Given the description of an element on the screen output the (x, y) to click on. 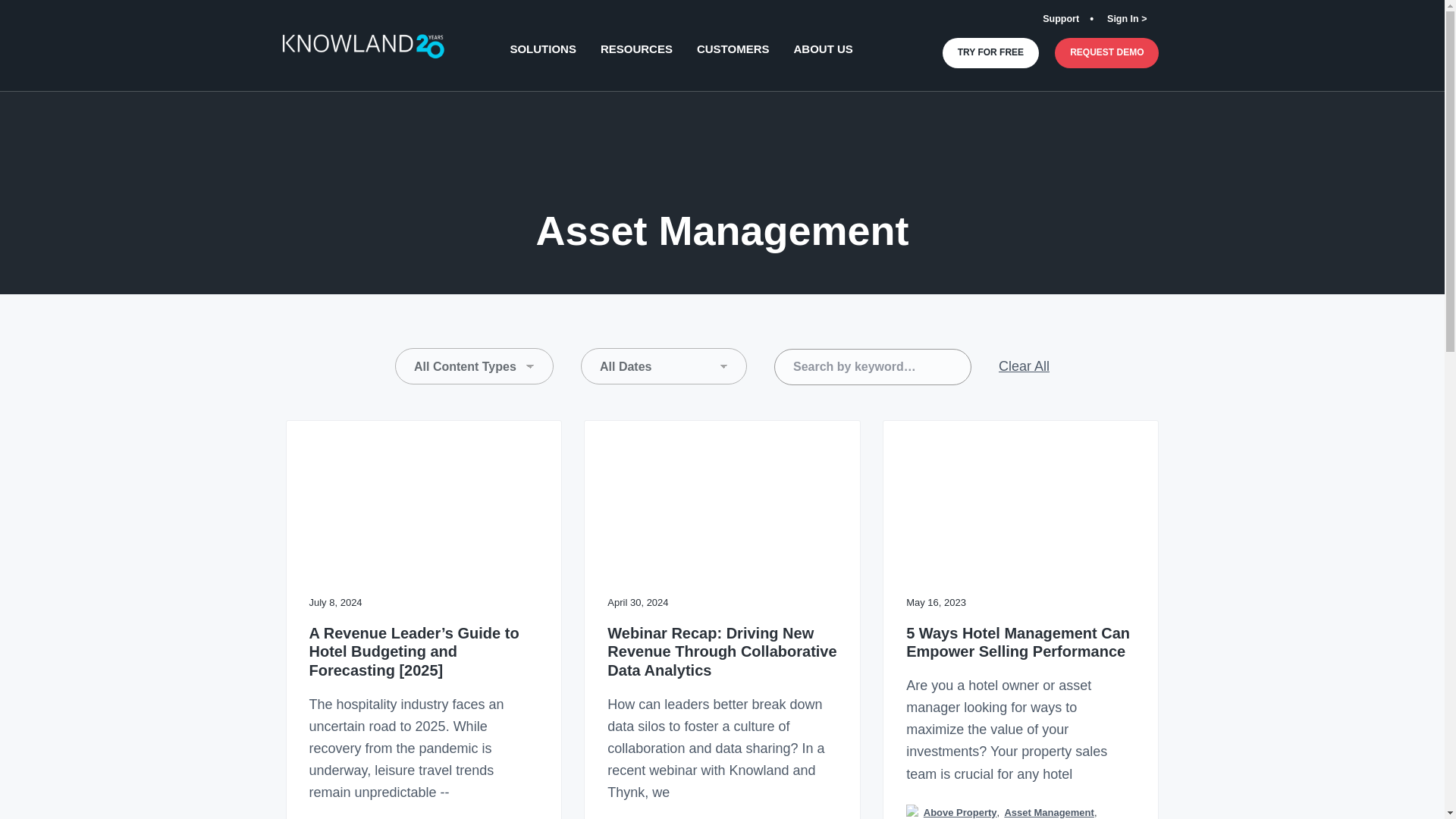
SOLUTIONS (542, 49)
CUSTOMERS (733, 49)
RESOURCES (635, 49)
ABOUT US (823, 49)
